Given the description of an element on the screen output the (x, y) to click on. 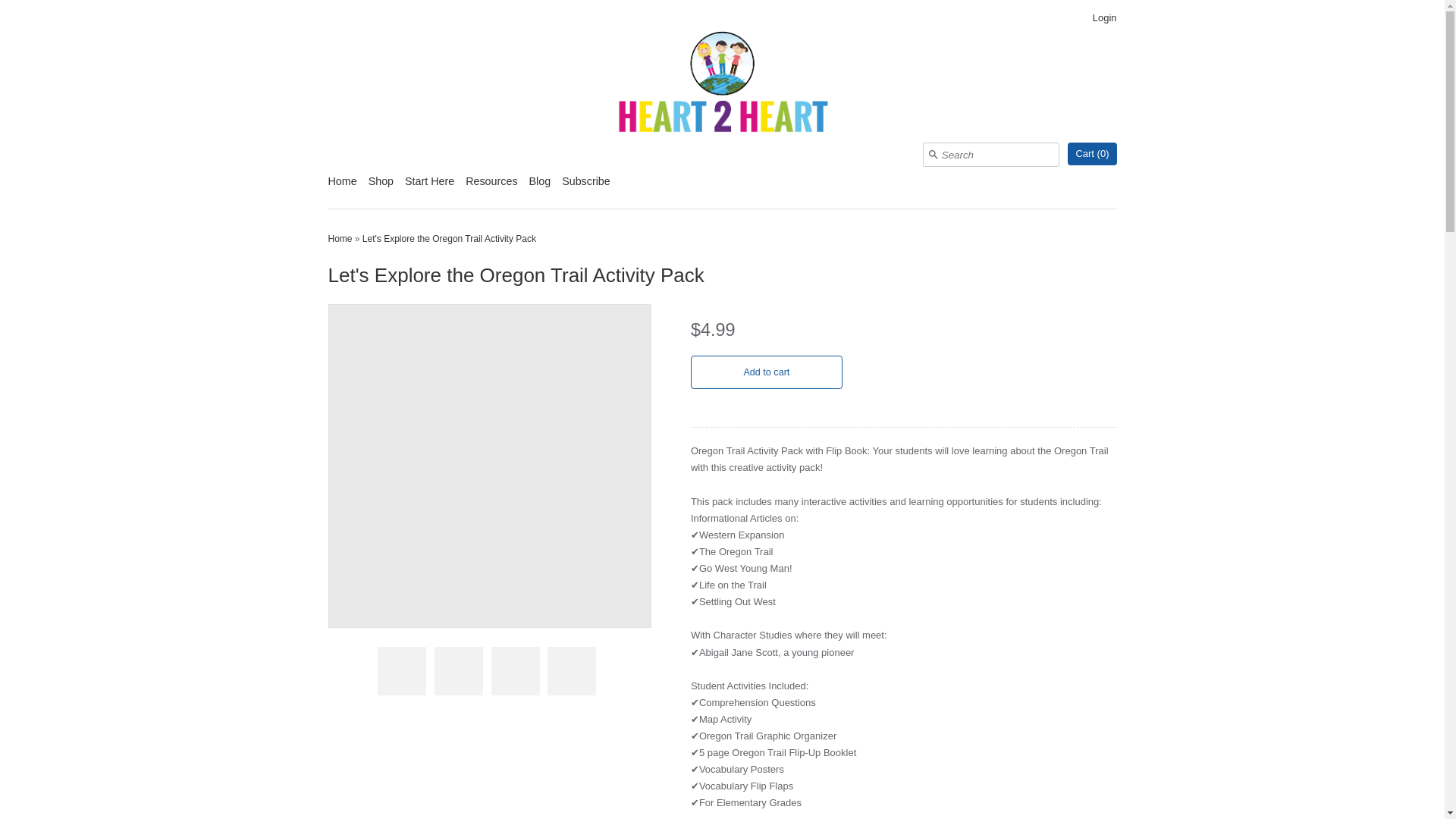
Let's Explore the Oregon Trail Activity Pack (448, 238)
Add to cart (766, 372)
Shop (380, 186)
Let's Explore the Oregon Trail Activity Pack (571, 671)
Resources (490, 186)
Heart 2 Heart Teaching (721, 84)
Search (933, 154)
Home (339, 238)
Let's Explore the Oregon Trail Activity Pack (401, 671)
Search (933, 154)
Home (341, 186)
Let's Explore the Oregon Trail Activity Pack (516, 671)
Blog (540, 186)
Add to cart (766, 372)
Home (339, 238)
